Given the description of an element on the screen output the (x, y) to click on. 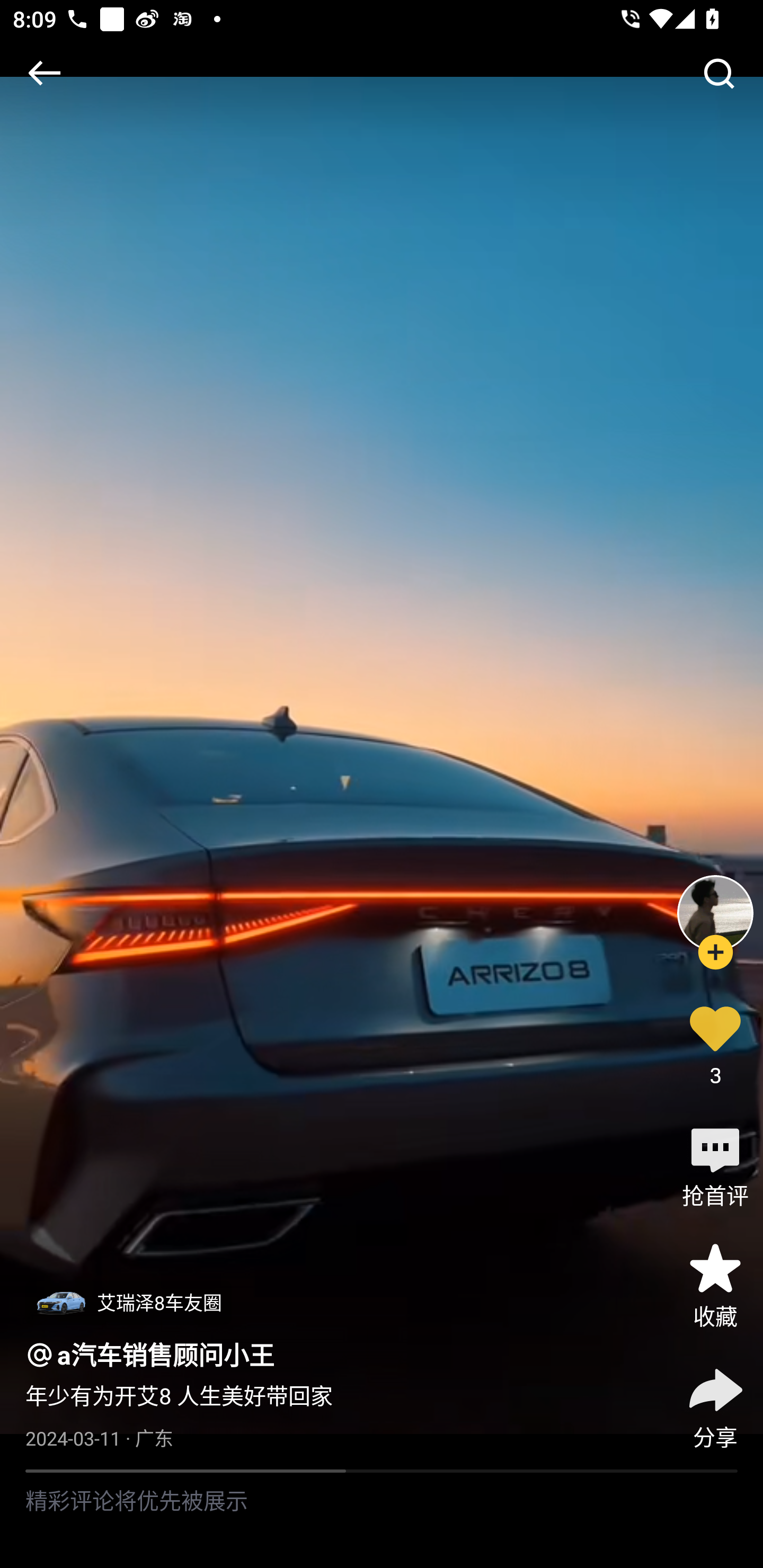
 (44, 72)
 (718, 72)
抢首评 (715, 1164)
收藏 (715, 1284)
艾瑞泽8车友圈 (128, 1302)
a汽车销售顾问小王 (165, 1354)
分享 (715, 1405)
年少有为开艾8 人生美好带回家 (178, 1395)
精彩评论将优先被展示 (381, 1520)
